Given the description of an element on the screen output the (x, y) to click on. 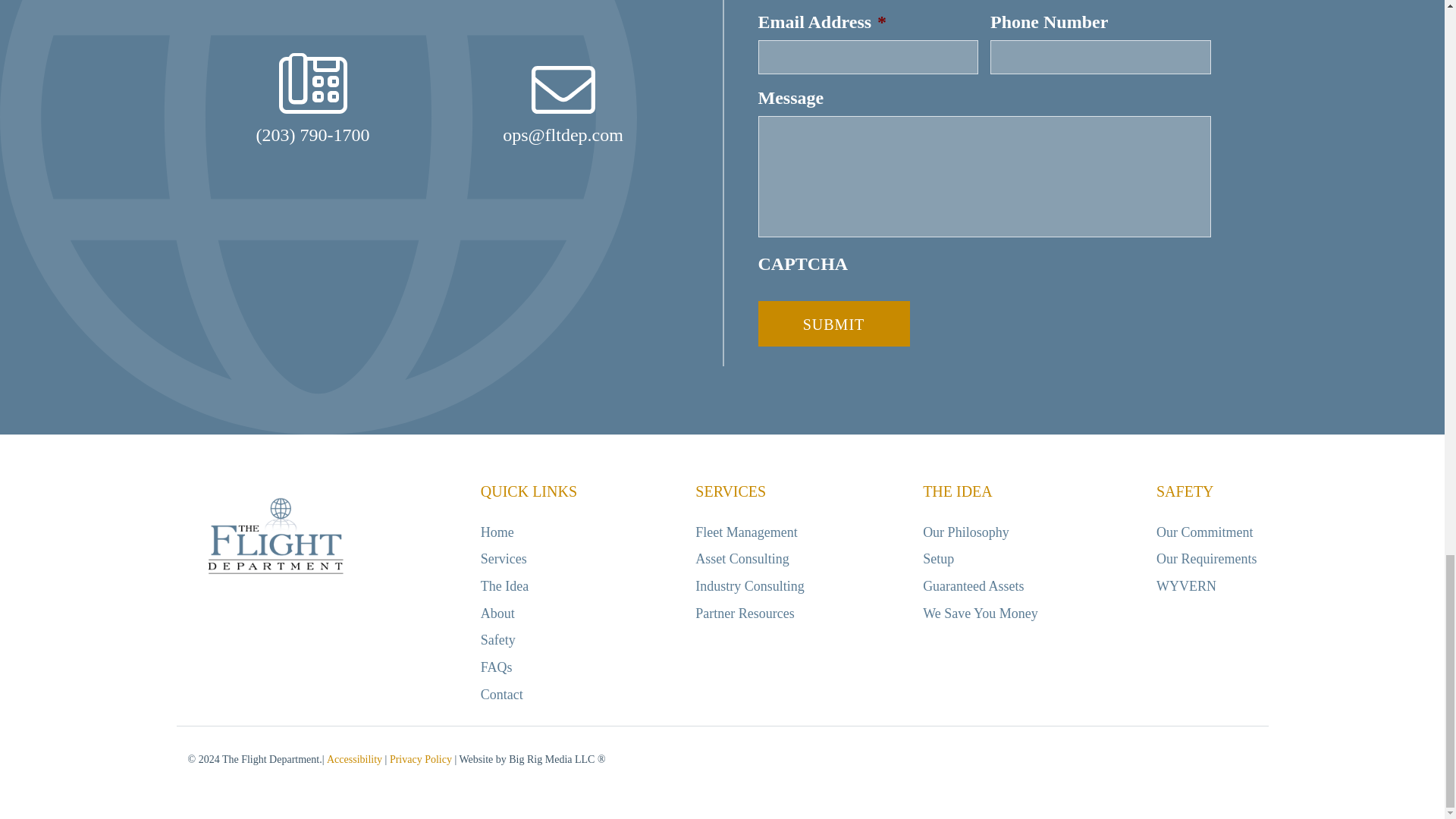
The Idea (504, 585)
Contact (501, 694)
Submit (834, 323)
About (497, 613)
Submit (834, 323)
Safety (497, 639)
Call us Today (313, 98)
Go Home (274, 537)
Send us an Email today (563, 104)
Home (496, 531)
Services (503, 558)
FAQs (496, 667)
Fleet Management (745, 531)
